Given the description of an element on the screen output the (x, y) to click on. 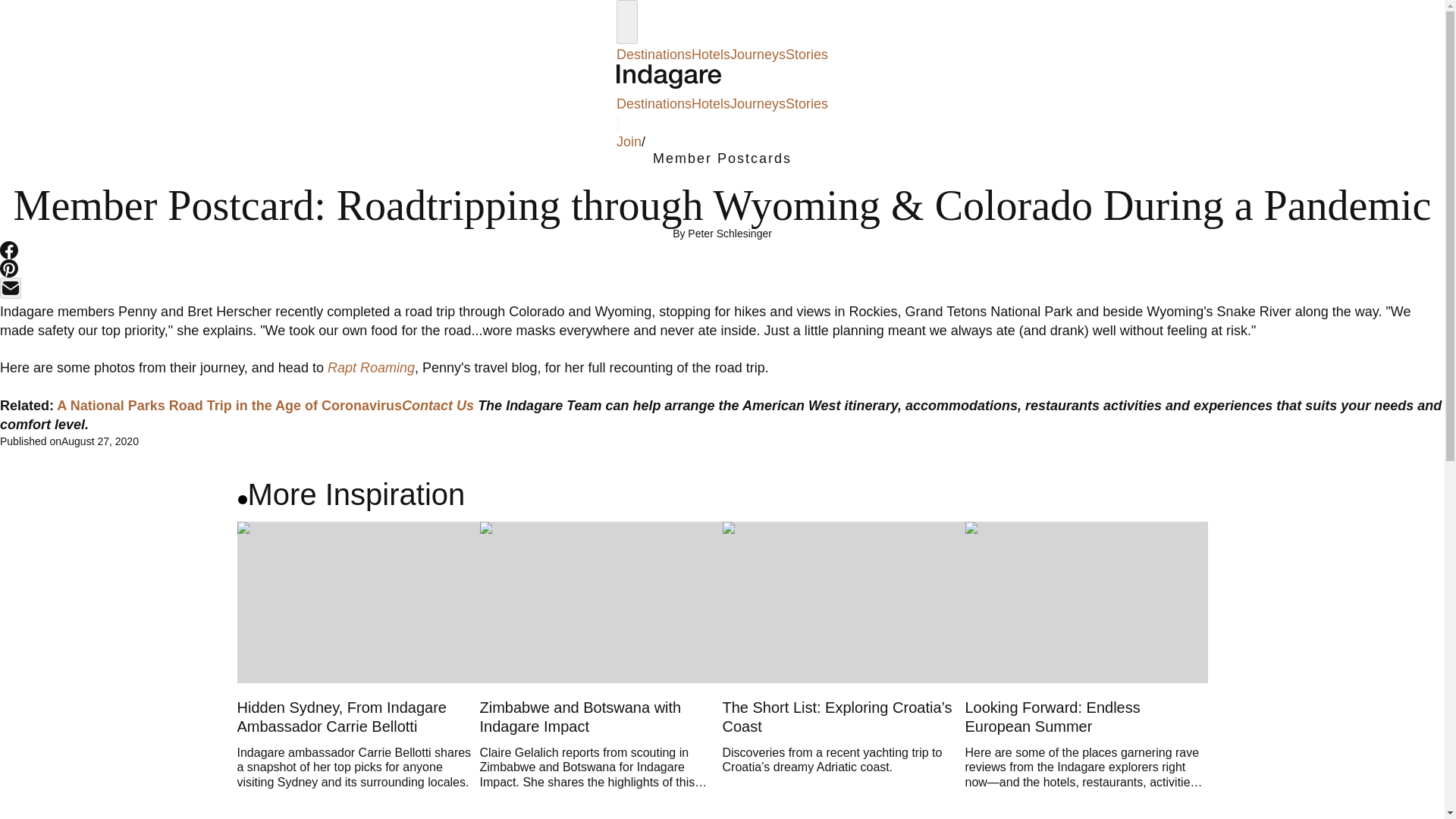
Journeys (758, 103)
Stories (807, 103)
Hotels (710, 103)
Destinations (653, 103)
Contact Us (437, 405)
Journeys (758, 54)
A National Parks Road Trip in the Age of Coronavirus (228, 405)
Destinations (653, 54)
Rapt Roaming (370, 367)
Hotels (710, 54)
Stories (807, 54)
Log In (663, 141)
Share via Email (10, 287)
Join (628, 141)
